Given the description of an element on the screen output the (x, y) to click on. 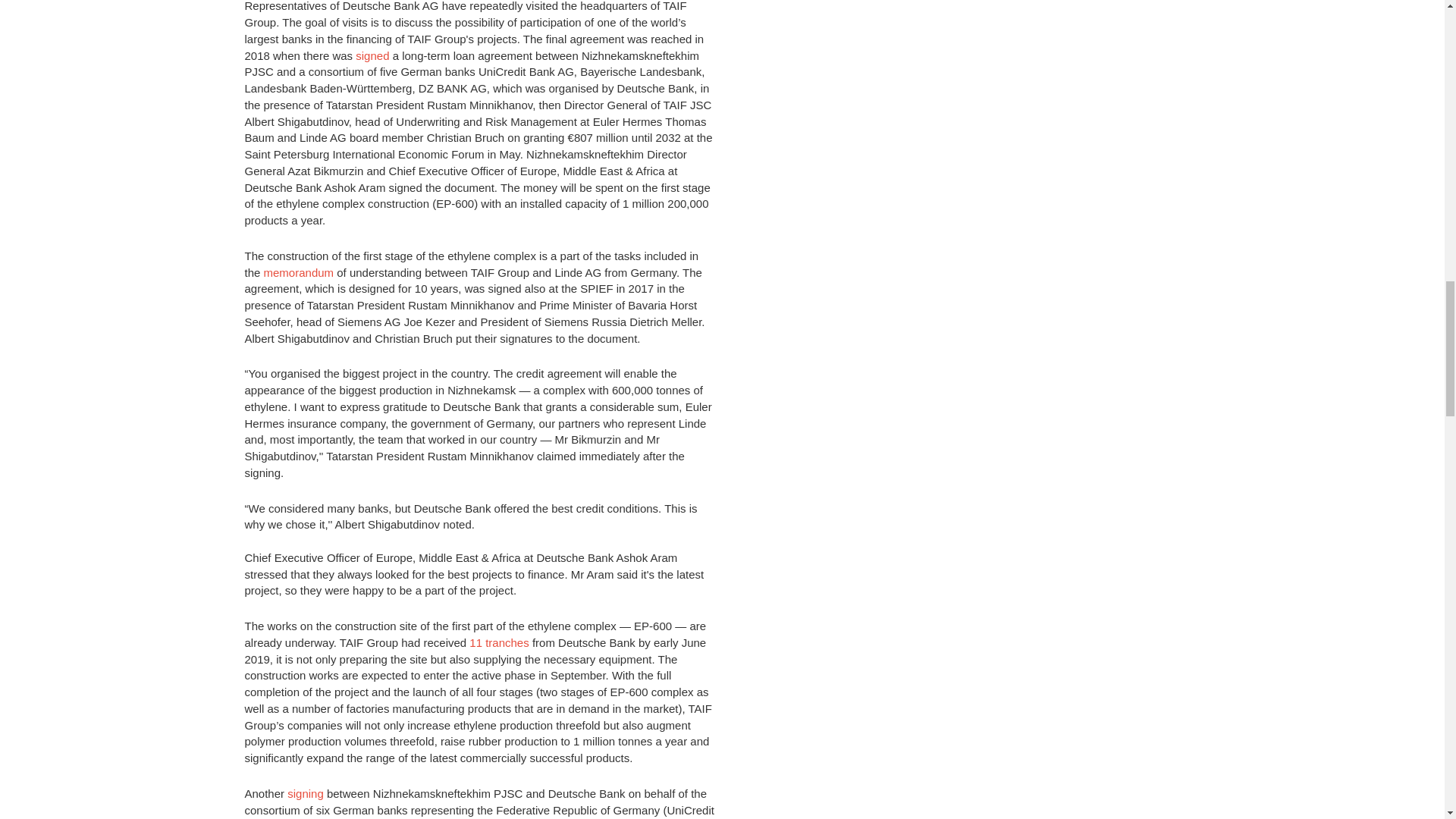
memorandum (298, 272)
11 tranches (498, 642)
signing (304, 793)
signed (371, 55)
